Given the description of an element on the screen output the (x, y) to click on. 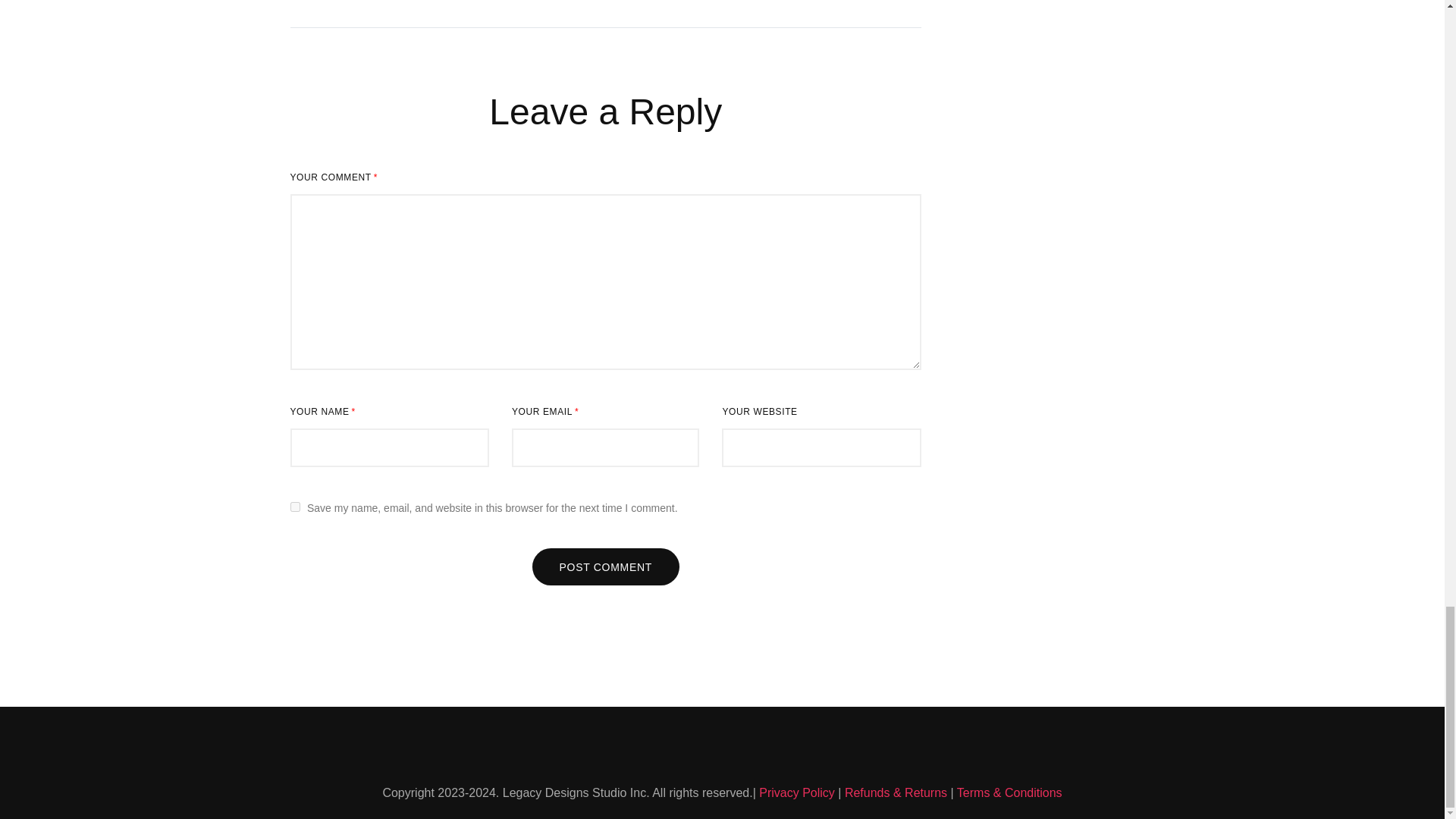
yes (294, 506)
Post Comment (605, 566)
